Given the description of an element on the screen output the (x, y) to click on. 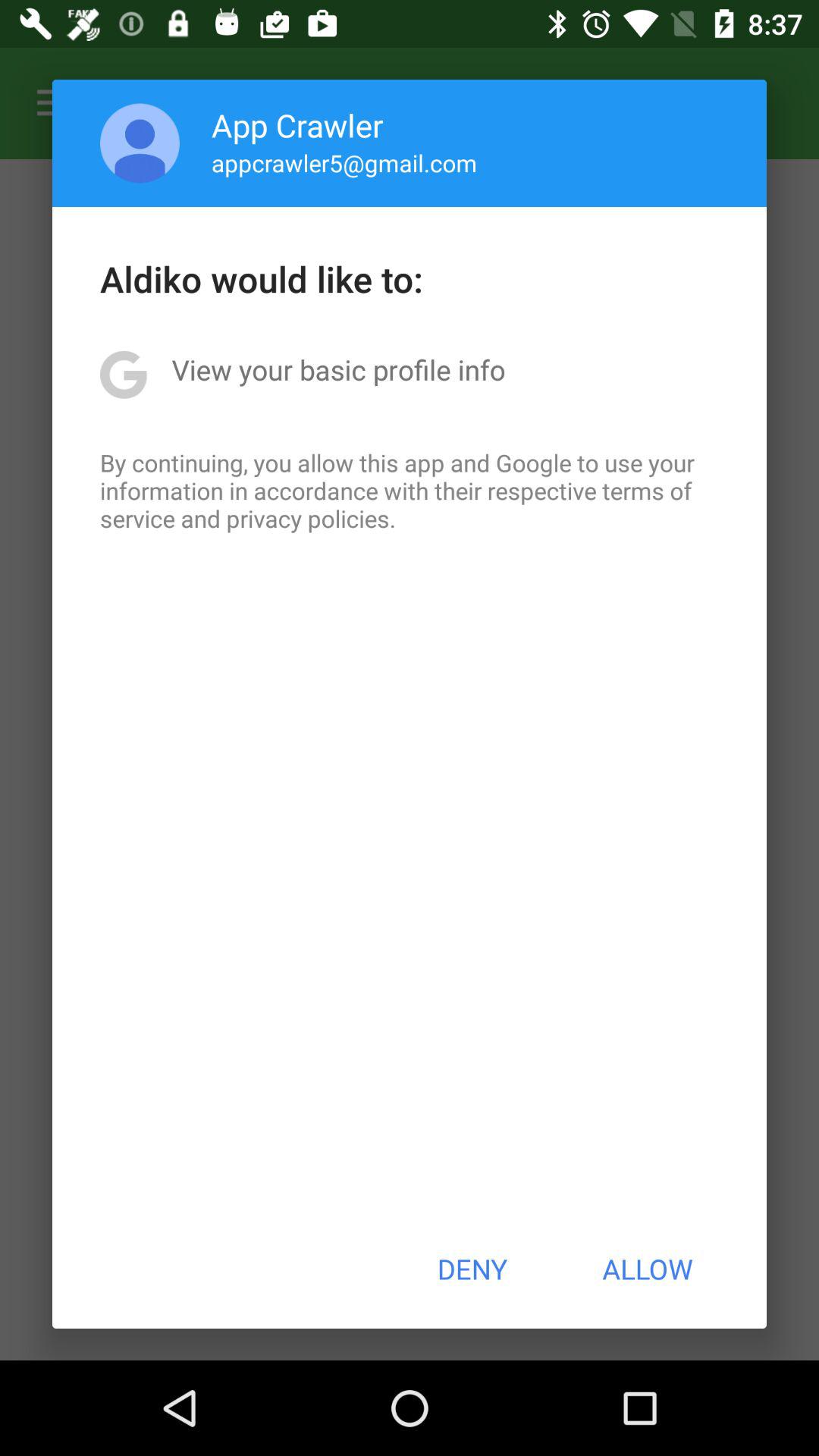
choose the icon above the by continuing you item (338, 369)
